Given the description of an element on the screen output the (x, y) to click on. 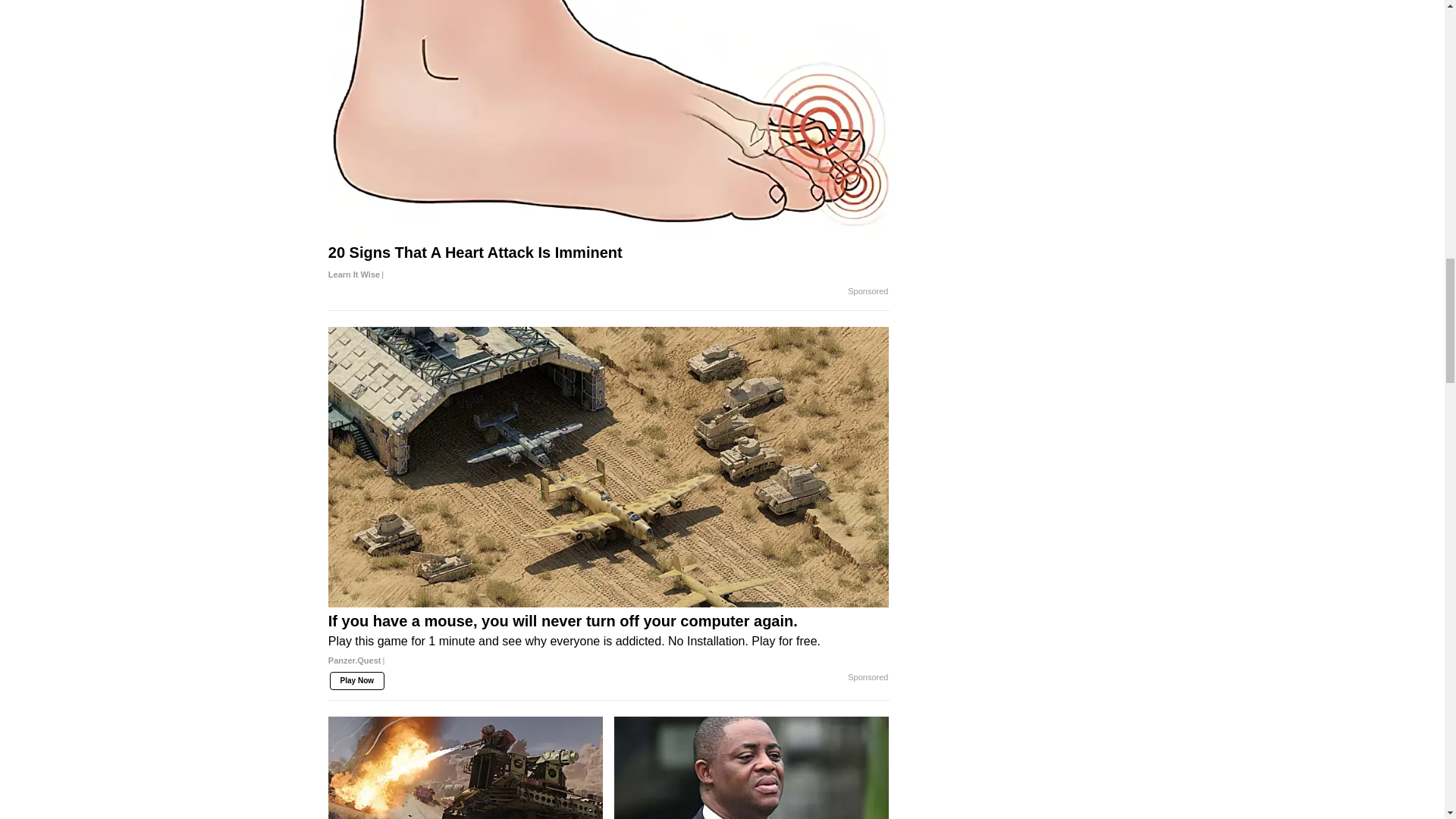
Play Now (357, 680)
Sponsored (867, 677)
20 Signs That A Heart Attack Is Imminent (609, 263)
Sponsored (867, 291)
